Given the description of an element on the screen output the (x, y) to click on. 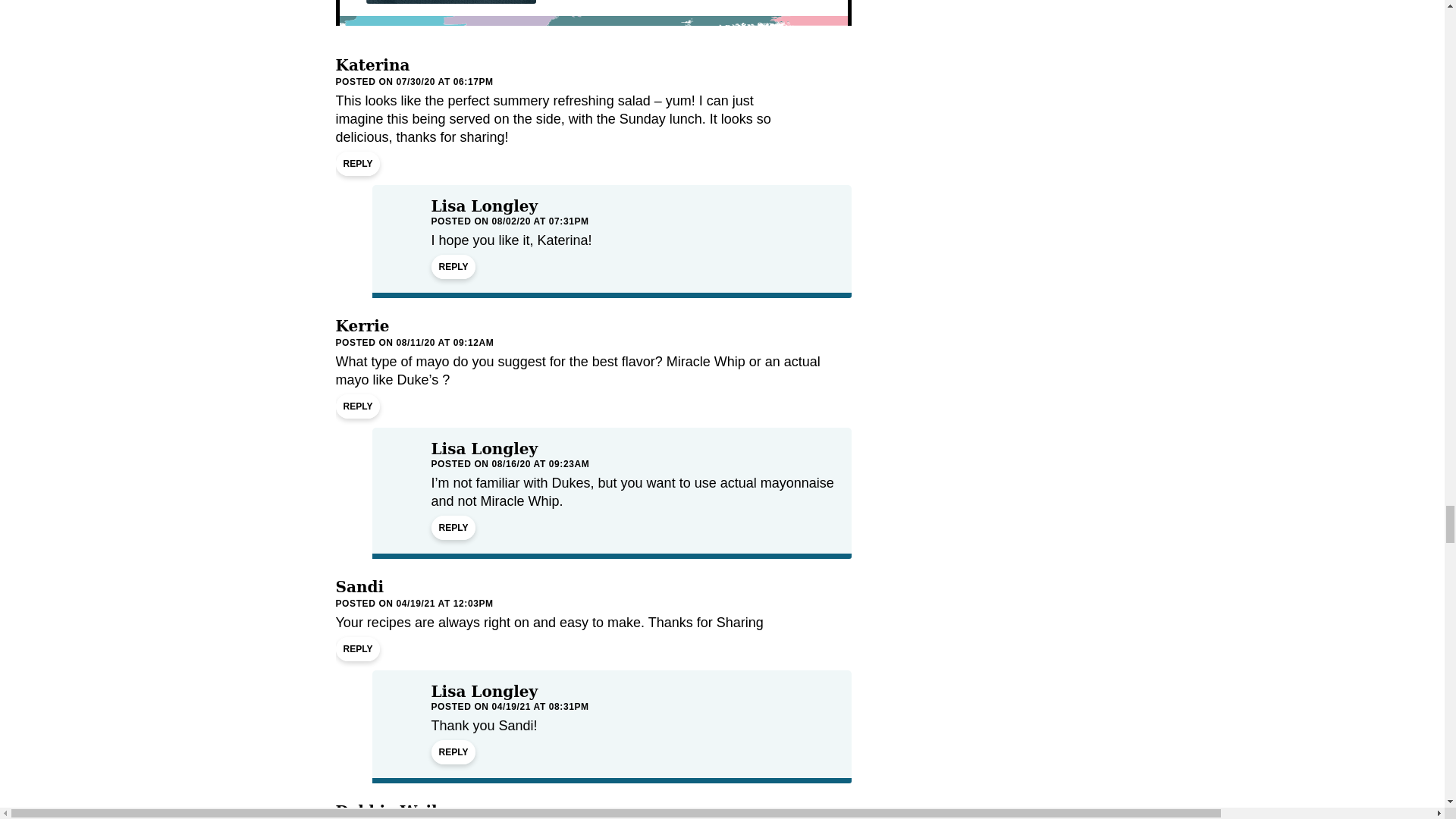
submit comment (450, 2)
